Given the description of an element on the screen output the (x, y) to click on. 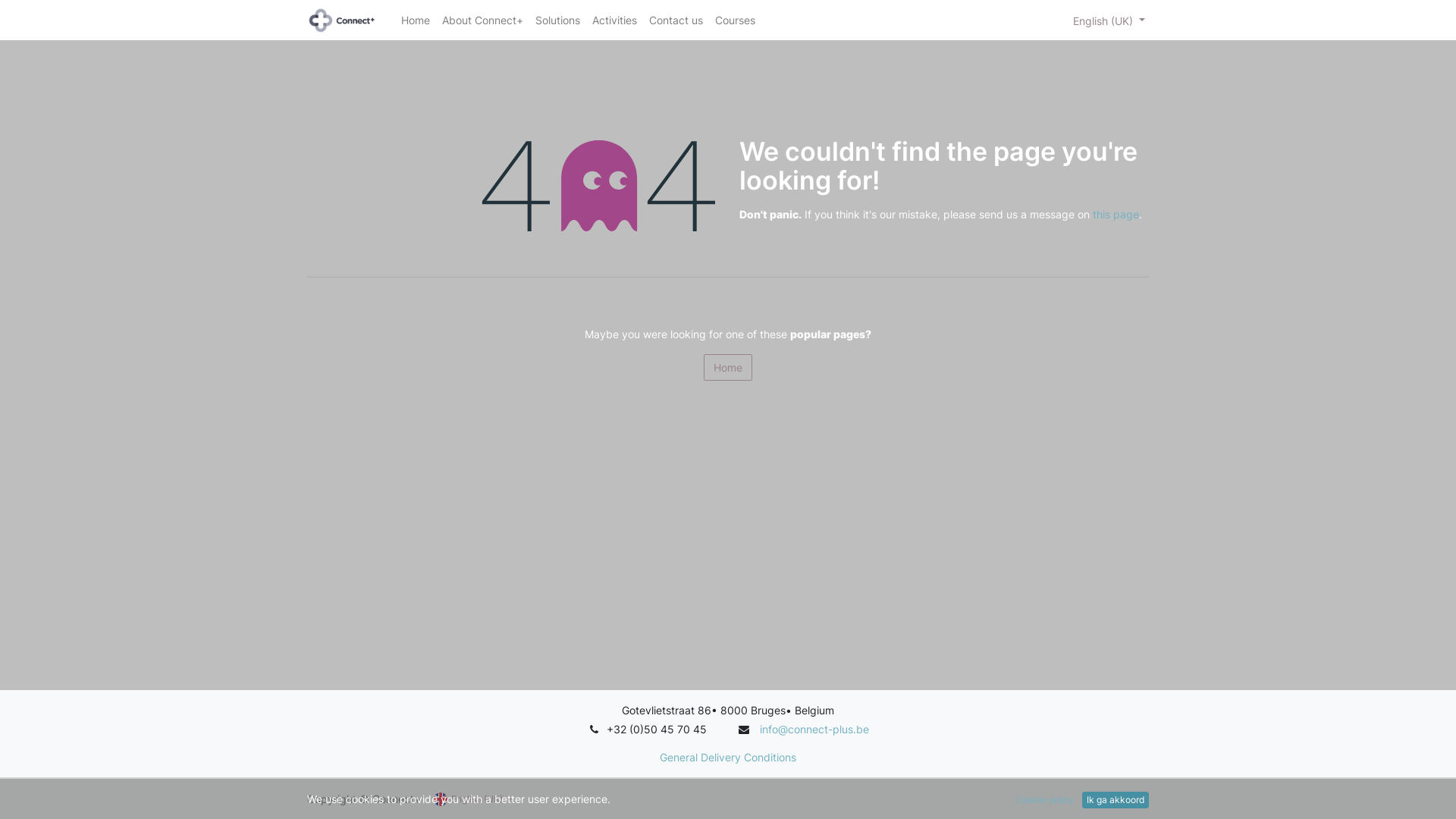
About Connect+ Element type: text (482, 20)
Solutions Element type: text (557, 20)
Ik ga akkoord Element type: text (1115, 799)
English (UK) Element type: text (1108, 19)
Home Element type: text (727, 367)
English (UK) Element type: text (472, 798)
Contact us Element type: text (676, 20)
+32 (0)50 4 Element type: text (636, 728)
Connect+ Group Element type: hover (341, 20)
Cookie policy Element type: text (1045, 799)
Courses Element type: text (735, 20)
info@connect-plus.be Element type: text (814, 728)
Activities Element type: text (614, 20)
this page Element type: text (1115, 213)
General Delivery Conditions Element type: text (727, 756)
Home Element type: text (415, 20)
